Given the description of an element on the screen output the (x, y) to click on. 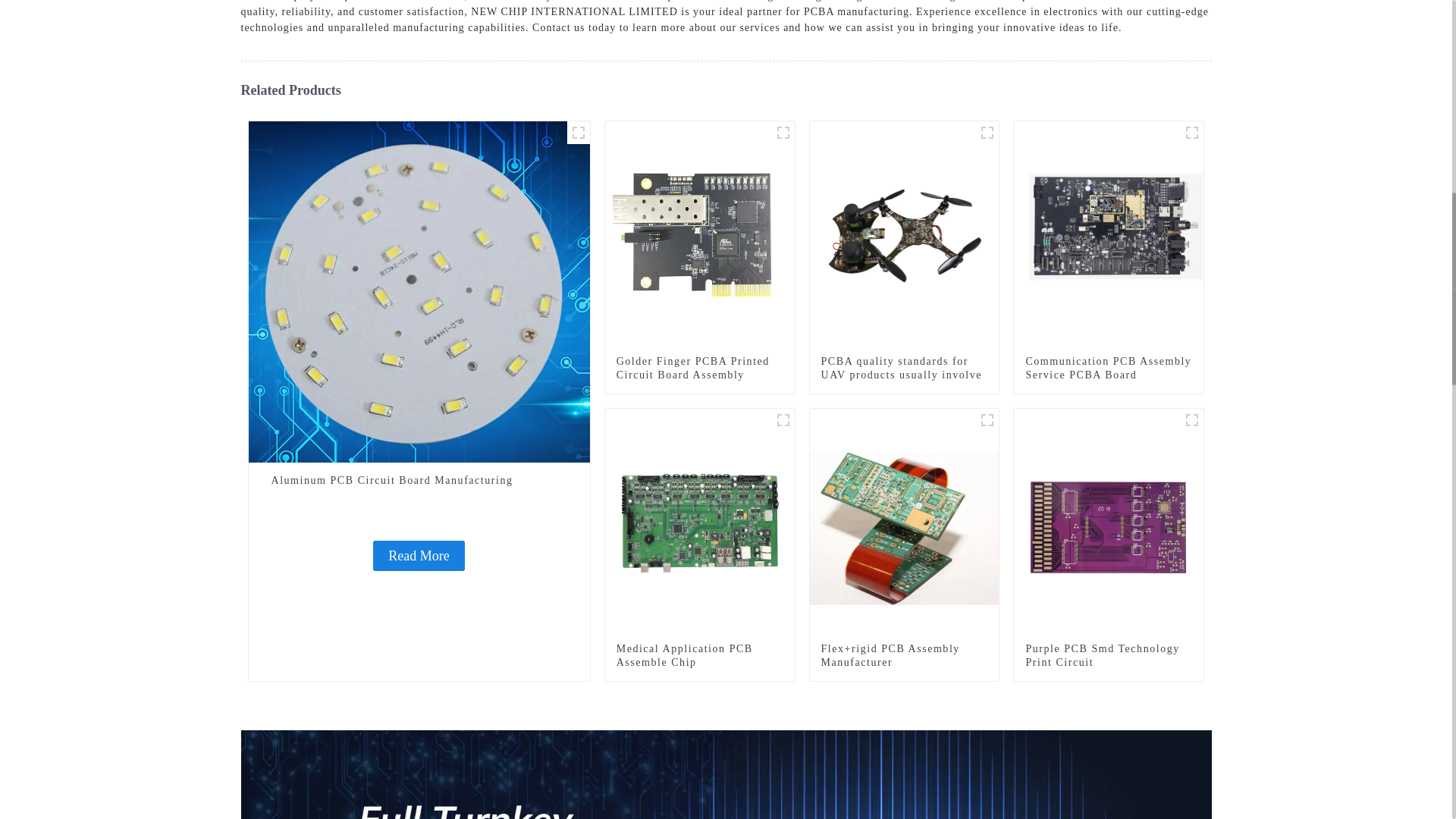
Golder Finger PCBA Printed Circuit Board Assembly (699, 368)
Aluminum PCB Circuit Board Manufacturing (418, 555)
Aluminum PCB Circuit Board Manufacturing (418, 290)
Medical Application PCBA supplier (782, 419)
Golder Finger PCBA Printed Circuit Board Assembly (699, 234)
Goldfinger PCB board (782, 132)
Communication PCB Assembly Service PCBA Board (1108, 368)
Medical Application PCB Assemble Chip (699, 521)
svasv (578, 132)
23 (986, 132)
